Given the description of an element on the screen output the (x, y) to click on. 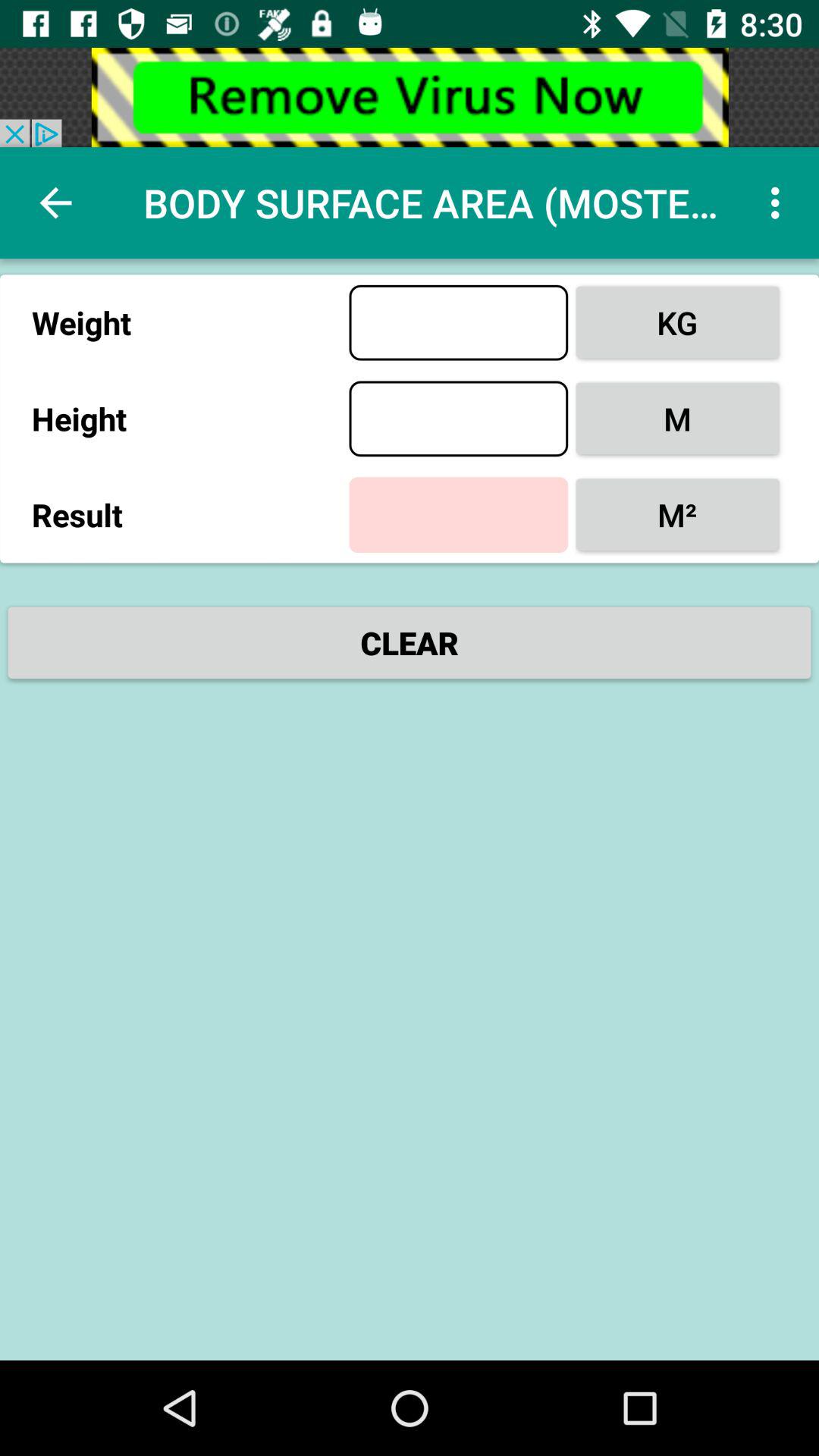
go to box (458, 418)
